Given the description of an element on the screen output the (x, y) to click on. 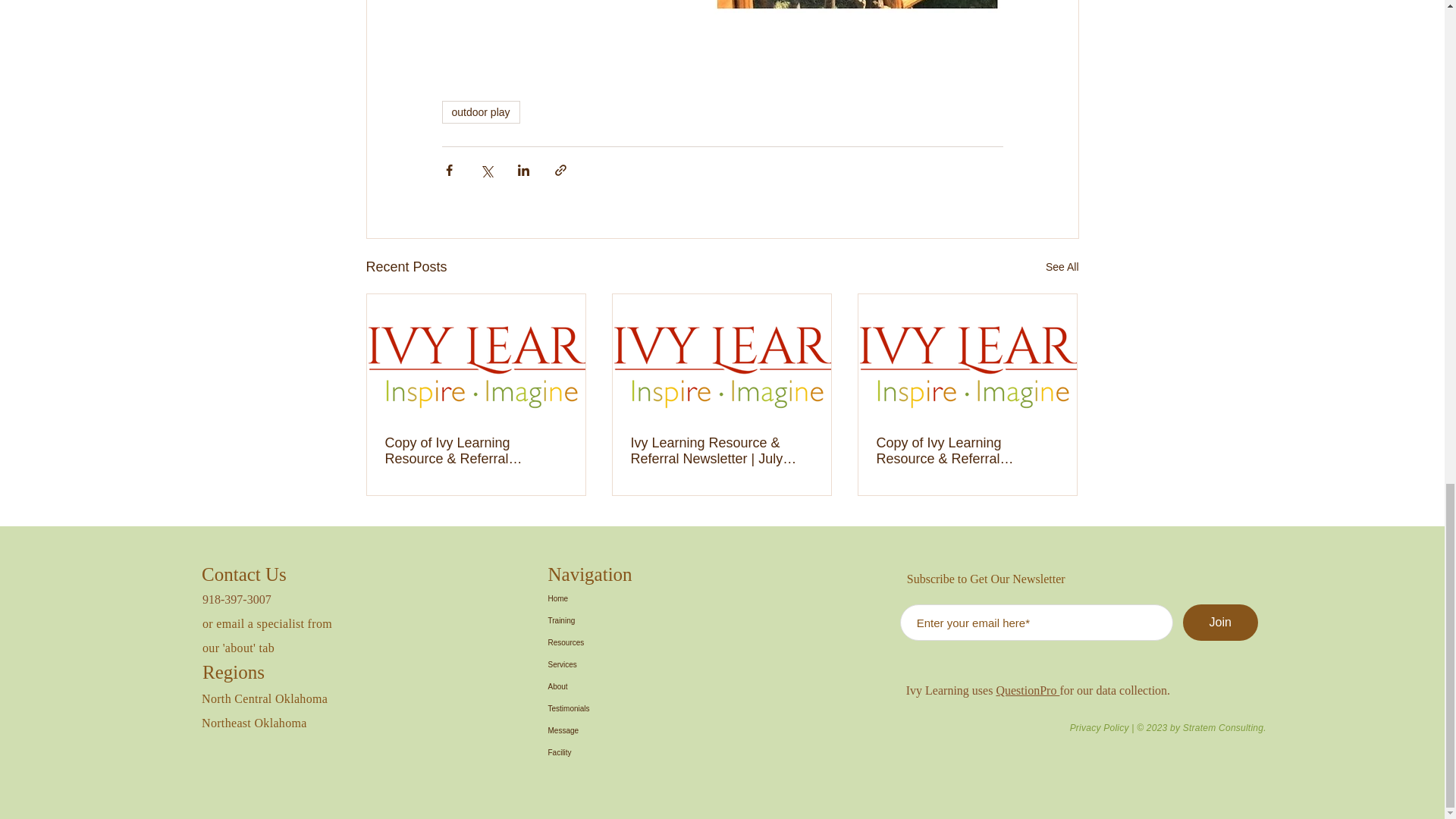
outdoor play (480, 111)
See All (1061, 267)
Training (600, 620)
Resources (600, 642)
About (600, 686)
Northeast Oklahoma (254, 722)
Services (600, 664)
Home (600, 598)
North Central Oklahoma (264, 698)
